Given the description of an element on the screen output the (x, y) to click on. 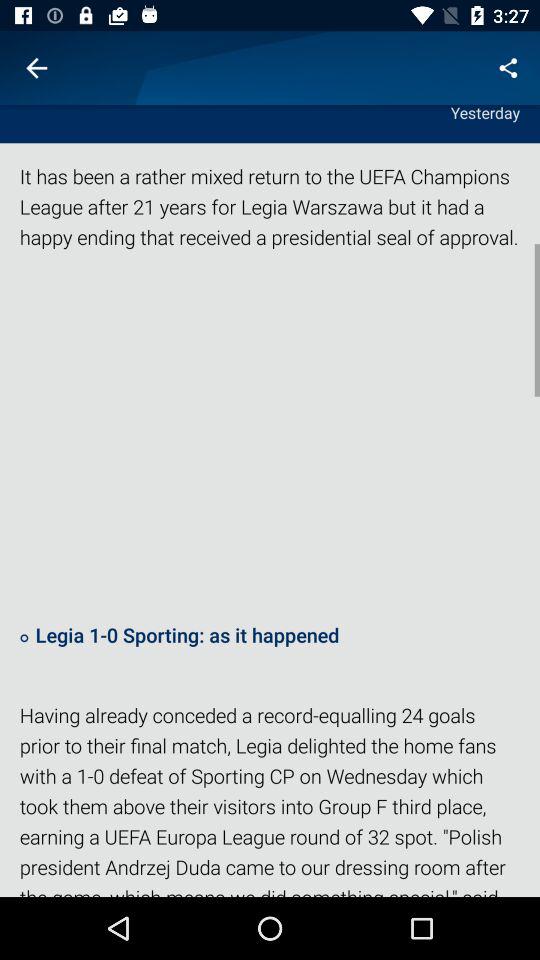
select item above yesterday (36, 68)
